Given the description of an element on the screen output the (x, y) to click on. 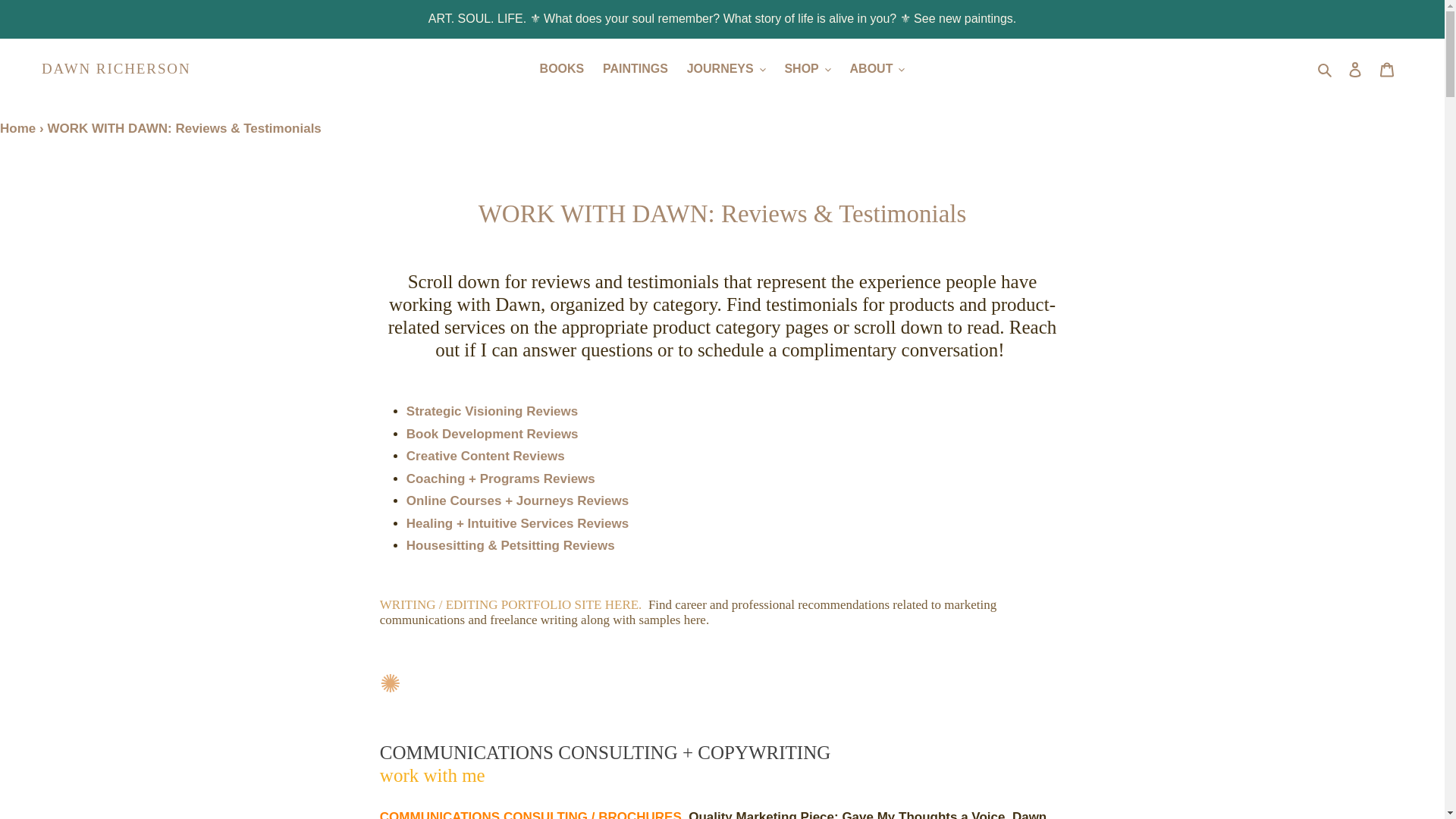
Cart (1387, 68)
JOURNEYS (726, 68)
SHOP (807, 68)
Work with Dawn Communications Consulting (432, 775)
Housesitting and Petsitting Services Dawn Richerson Reviews (510, 545)
Book a call to discuss your project (847, 350)
DAWN RICHERSON (116, 68)
ABOUT (877, 68)
BOOKS (562, 68)
Contact Dawn (746, 338)
PAINTINGS (635, 68)
Search (1326, 68)
Home (17, 128)
